Given the description of an element on the screen output the (x, y) to click on. 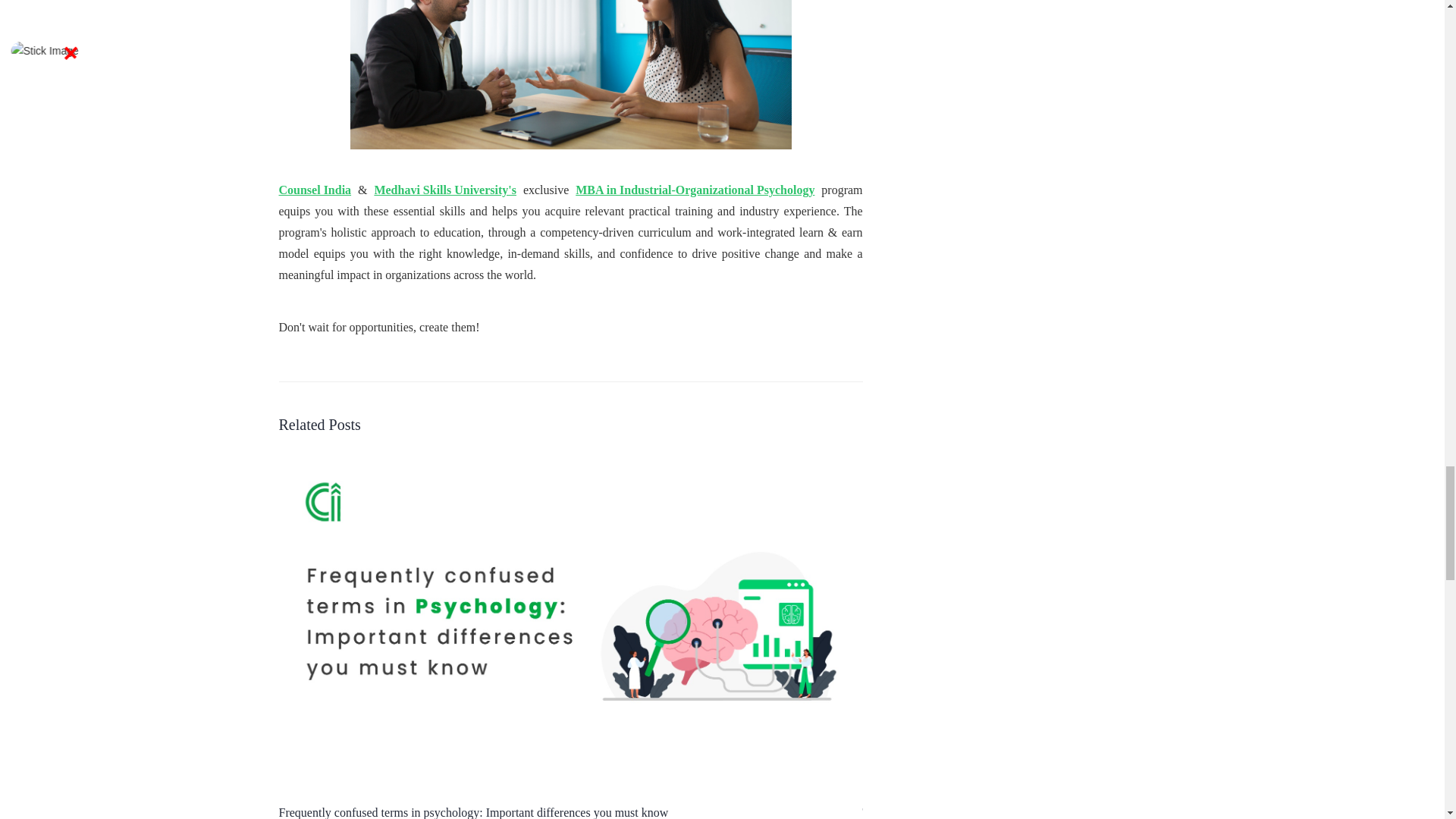
Medhavi Skills University (445, 189)
Counsel India (315, 189)
MBA in Industrial-Organizational Psychology (694, 189)
Psychology (571, 74)
